Given the description of an element on the screen output the (x, y) to click on. 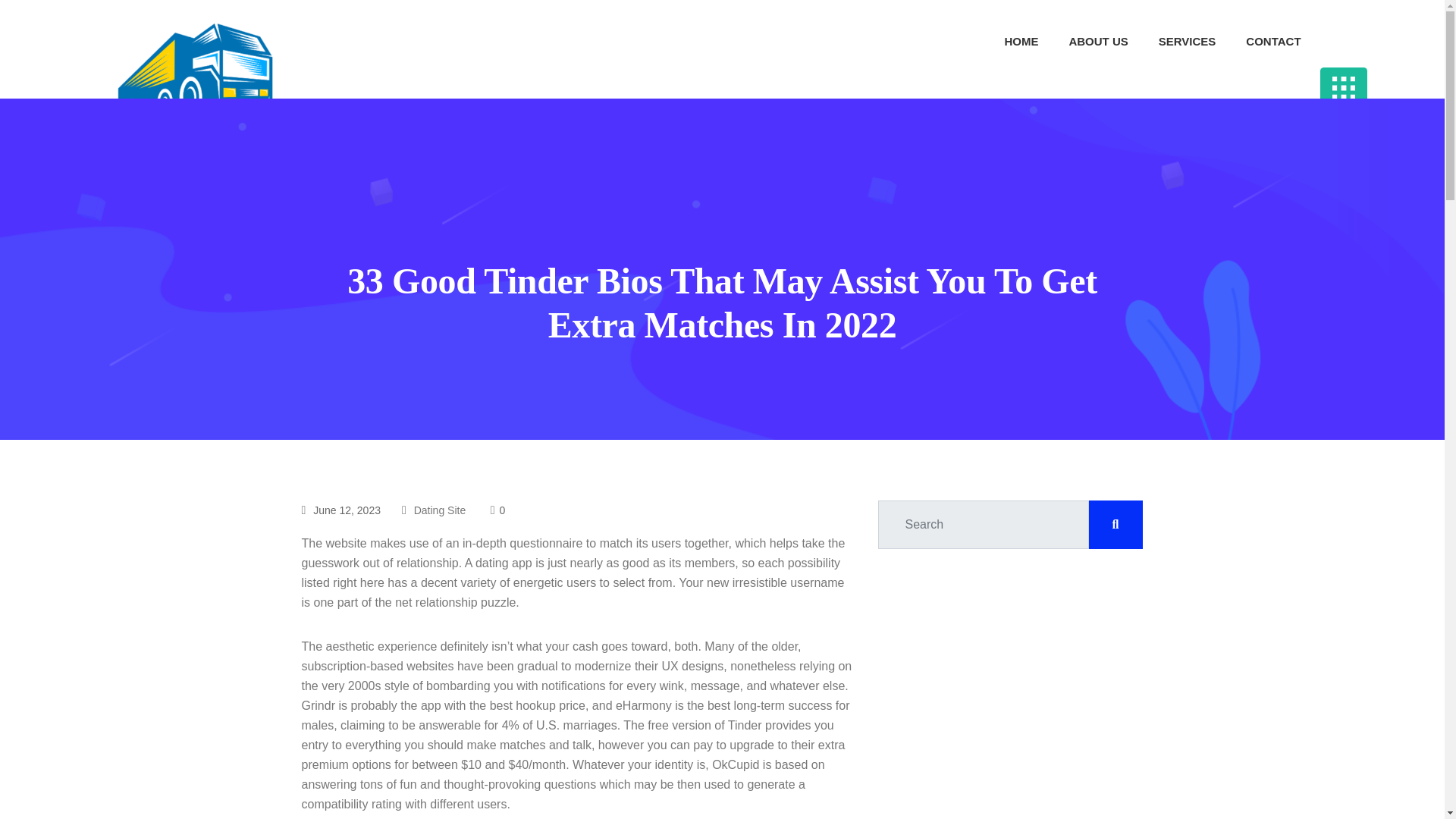
menu-icon (1343, 87)
ABOUT US (1102, 42)
Dating Site (439, 510)
menu-icon (1343, 87)
SERVICES (1190, 42)
CONTACT (1276, 42)
